Given the description of an element on the screen output the (x, y) to click on. 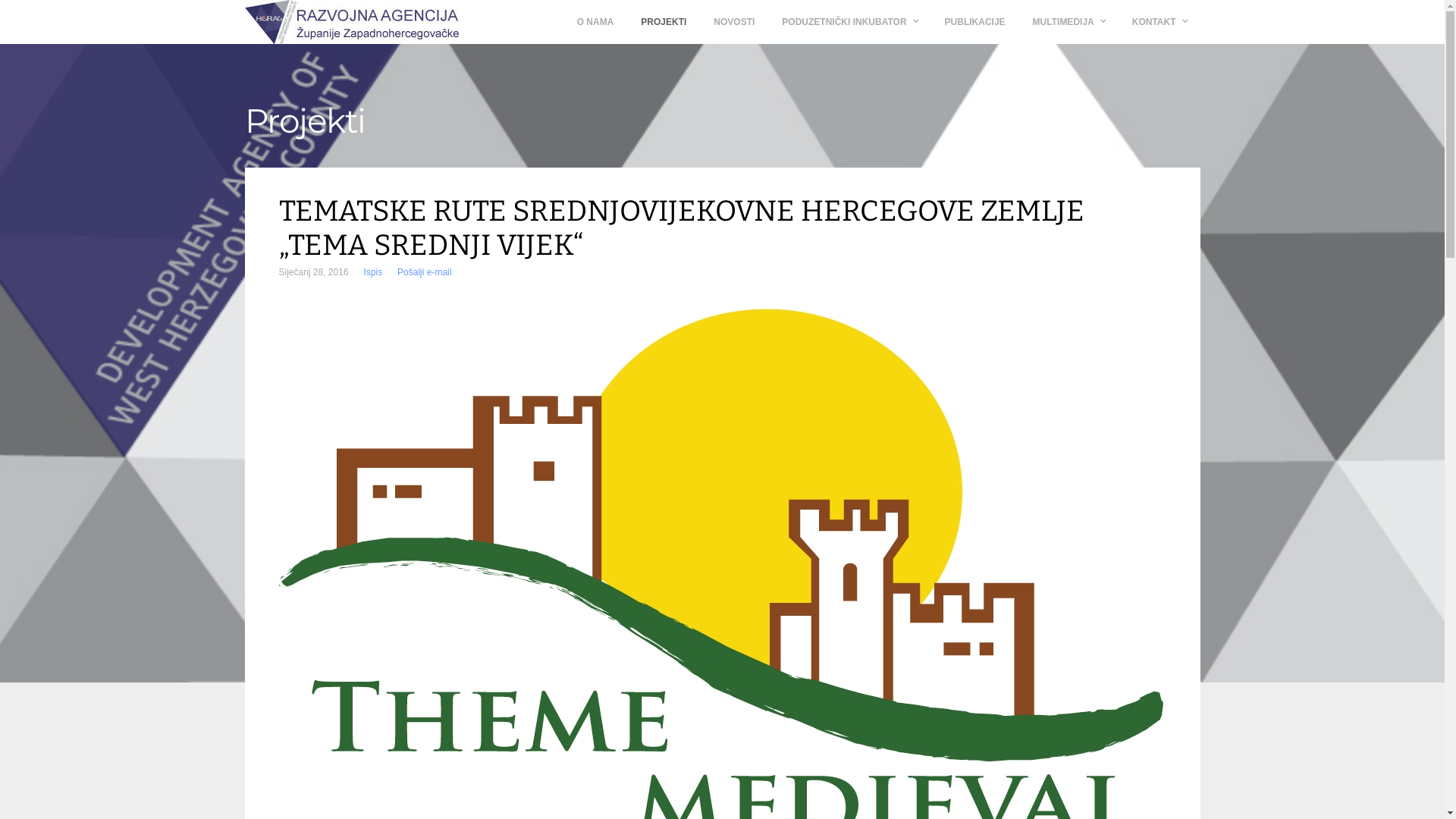
Ispis Element type: text (372, 271)
NOVOSTI Element type: text (733, 21)
PUBLIKACIJE Element type: text (975, 21)
O NAMA Element type: text (595, 21)
KONTAKT Element type: text (1159, 21)
MULTIMEDIJA Element type: text (1068, 21)
PROJEKTI Element type: text (663, 21)
